Given the description of an element on the screen output the (x, y) to click on. 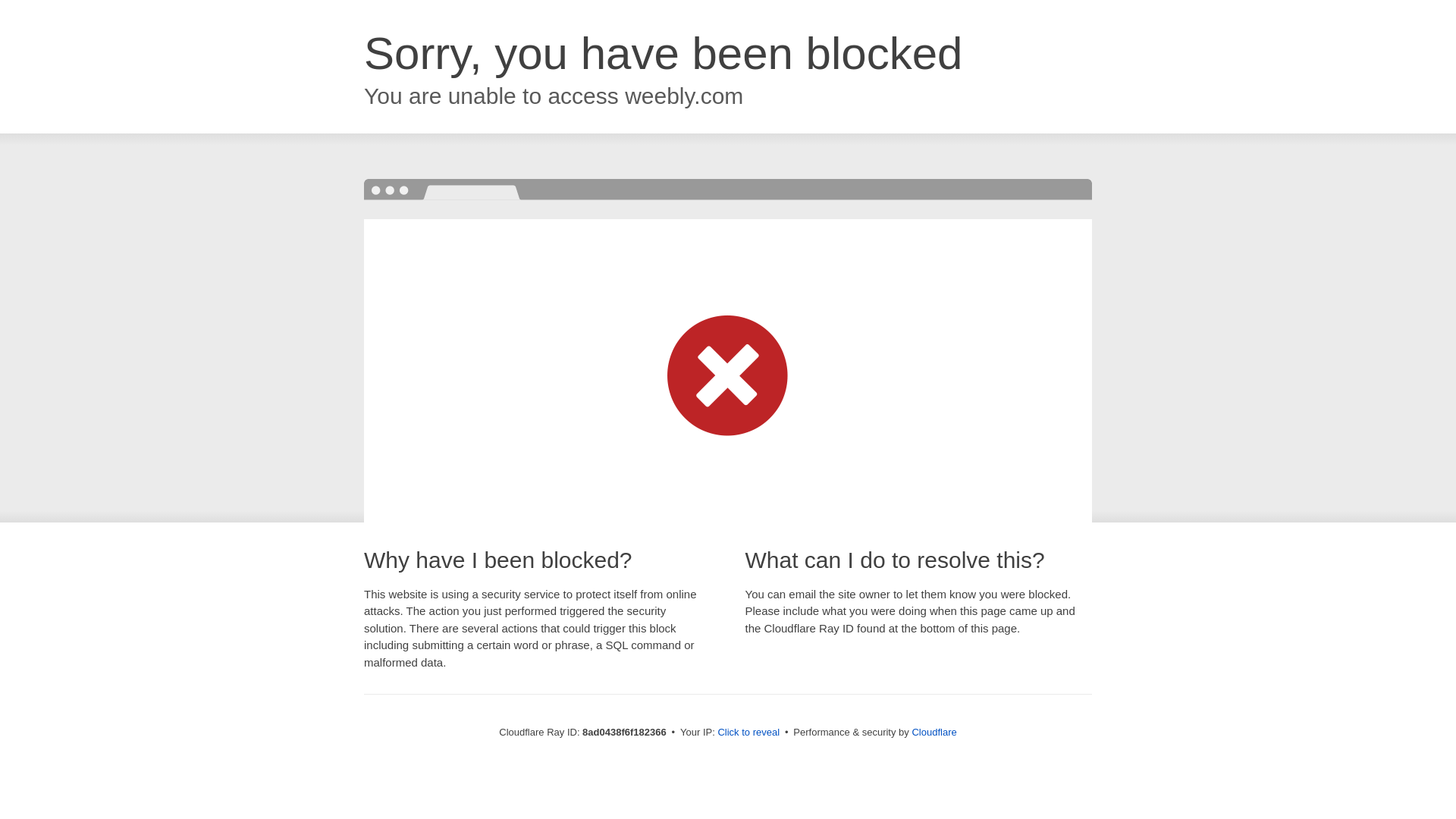
Cloudflare (933, 731)
Click to reveal (747, 732)
